Given the description of an element on the screen output the (x, y) to click on. 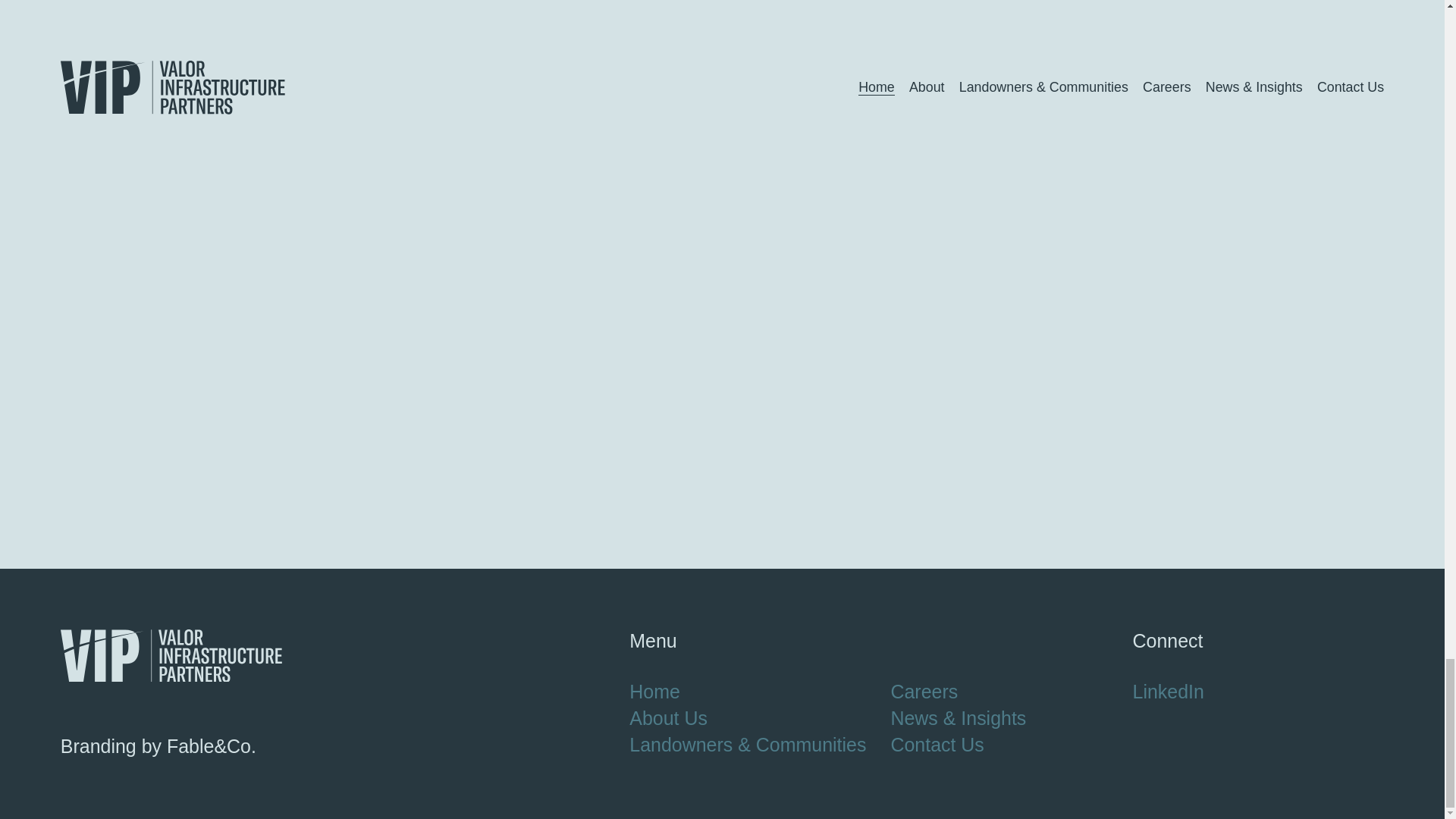
About Us (667, 718)
LinkedIn (1168, 691)
Home (653, 691)
Contact Us (936, 744)
Careers (923, 691)
